Given the description of an element on the screen output the (x, y) to click on. 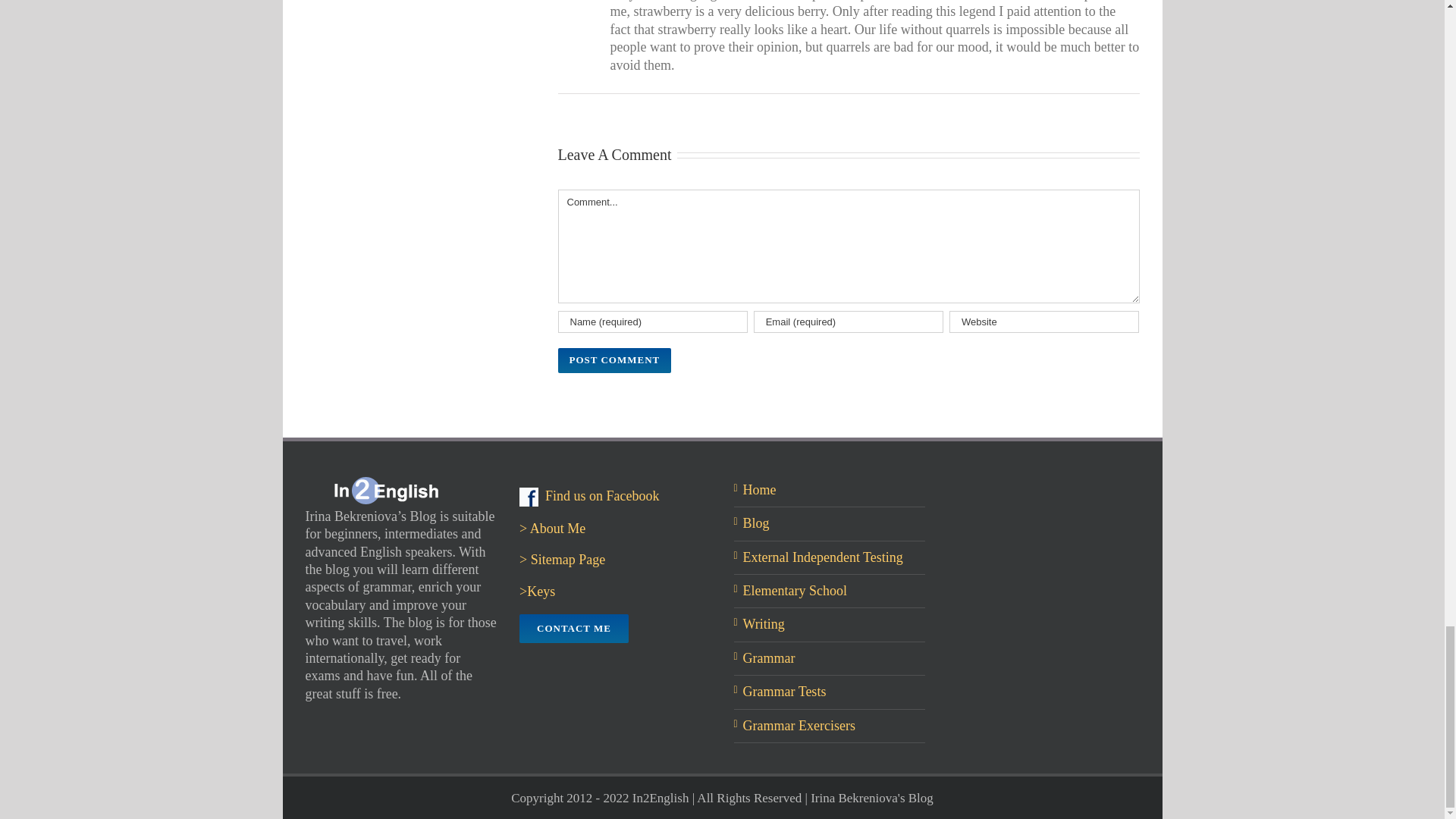
Post Comment (614, 360)
